Given the description of an element on the screen output the (x, y) to click on. 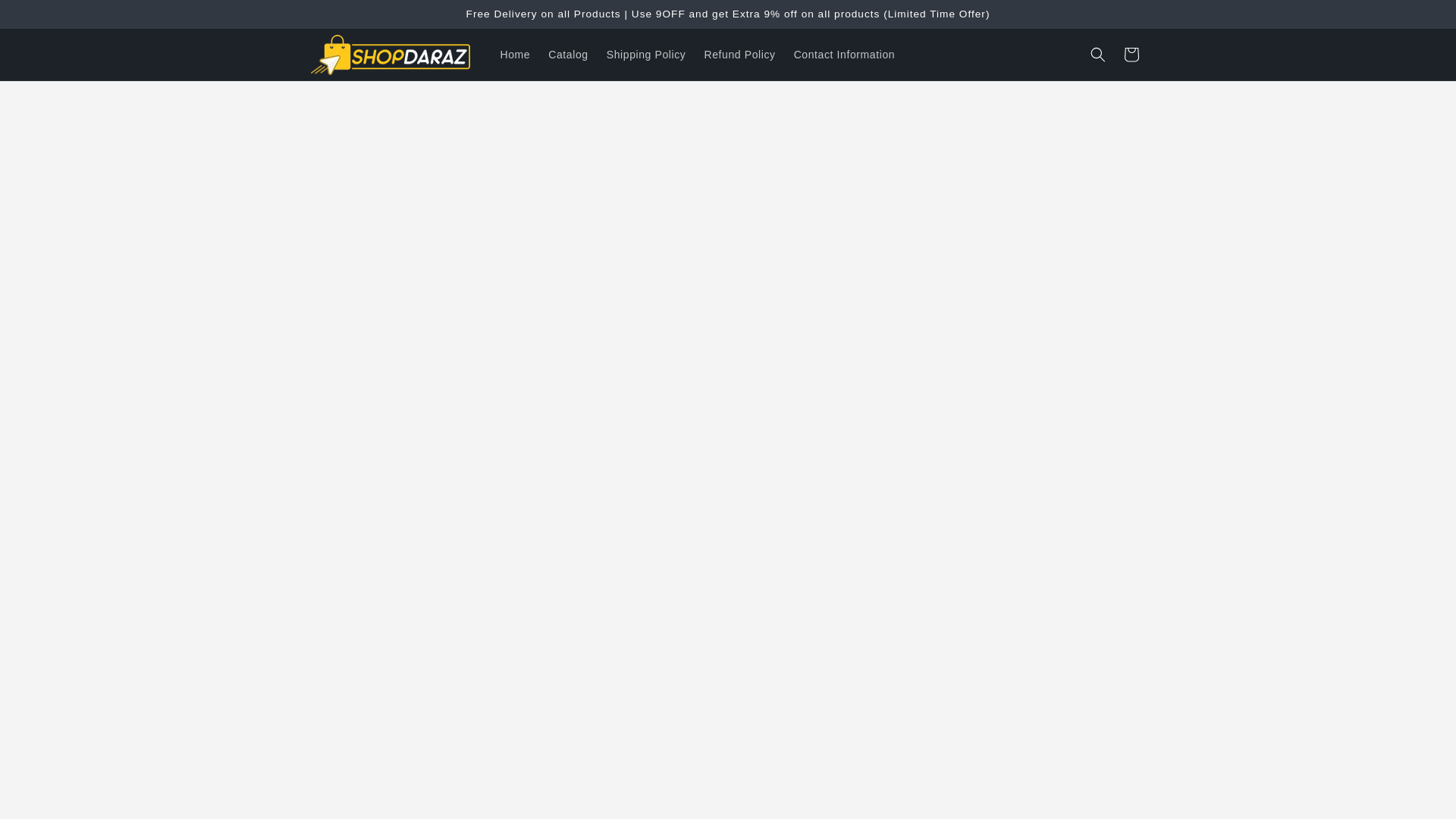
Refund Policy (739, 54)
Skip to content (45, 17)
Shipping Policy (645, 54)
Home (516, 54)
Contact Information (844, 54)
Catalog (567, 54)
Cart (1131, 54)
